Given the description of an element on the screen output the (x, y) to click on. 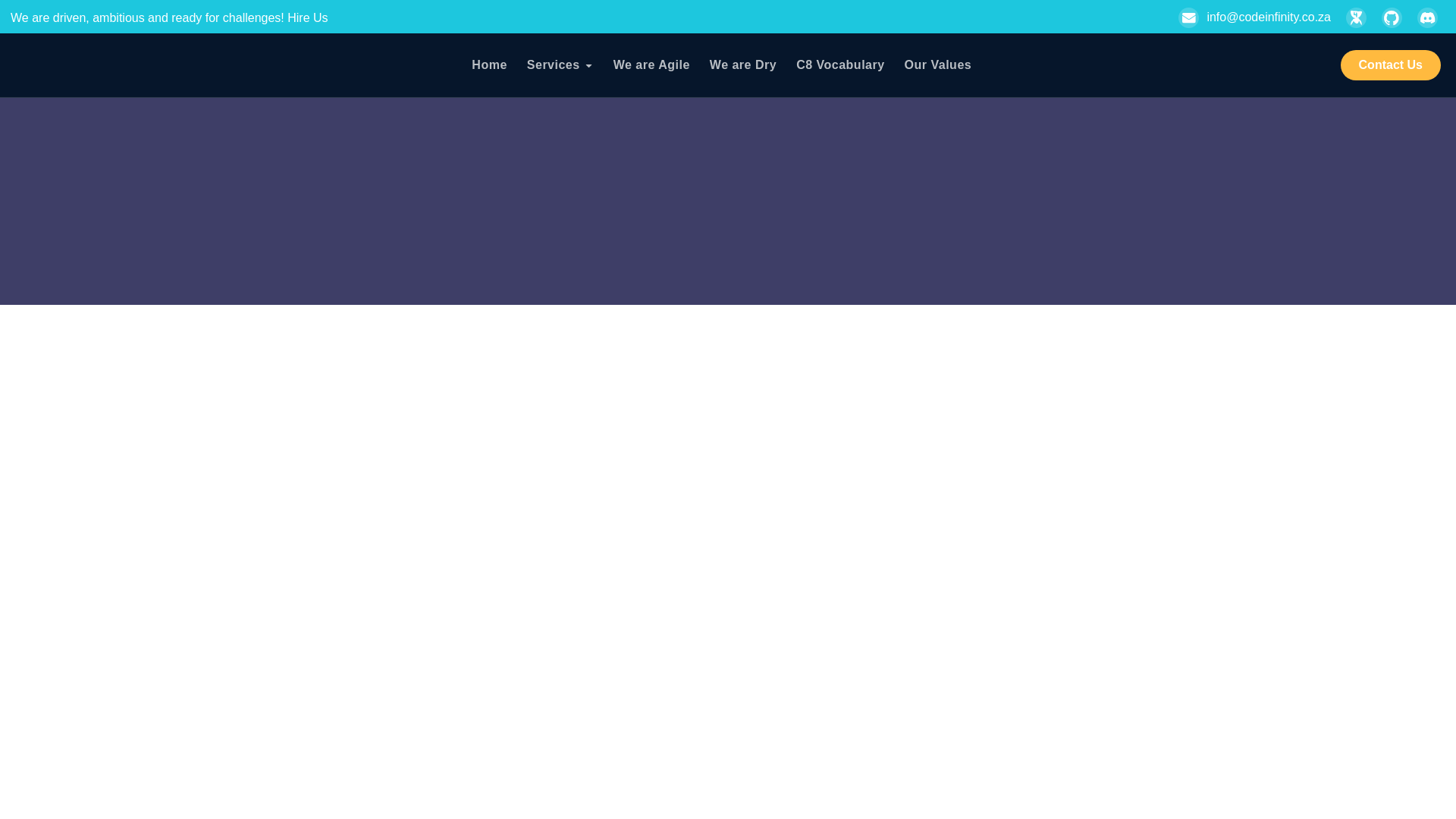
Our Values (938, 65)
Contact Us (1390, 64)
We are Agile (651, 65)
We are Dry (743, 65)
C8 Vocabulary (839, 65)
Home (488, 65)
